Given the description of an element on the screen output the (x, y) to click on. 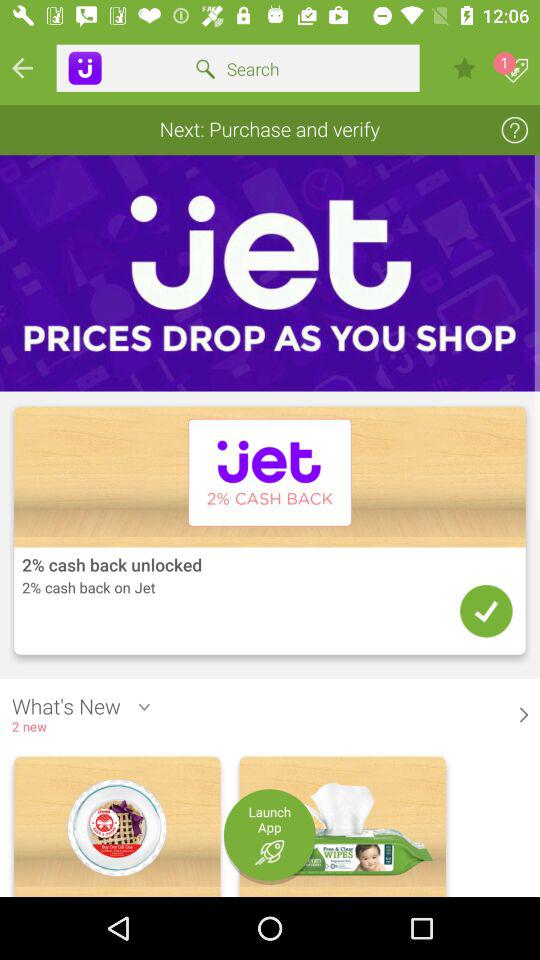
move to title search at the top of the page (238, 69)
select the second image from the top of the page (269, 533)
click on the right top corner icon above the image (515, 130)
click the right side icon of the search bar (464, 68)
click on the left arrow at top left corner of the page (22, 68)
click on the button at the top right corner of the page (515, 70)
